Given the description of an element on the screen output the (x, y) to click on. 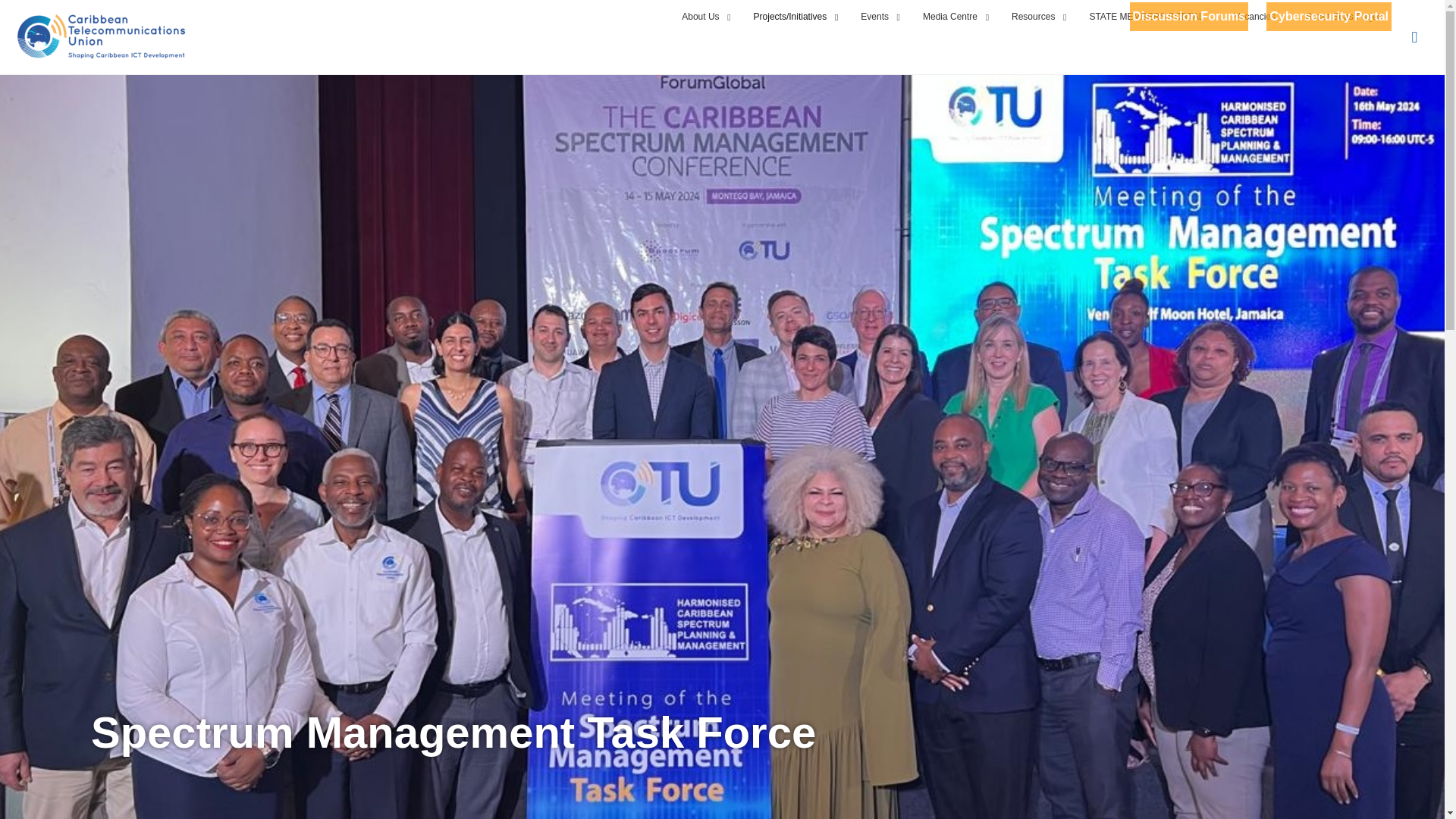
Cybersecurity Portal (1329, 15)
About Us (702, 17)
Discussion Forums (1188, 15)
